Given the description of an element on the screen output the (x, y) to click on. 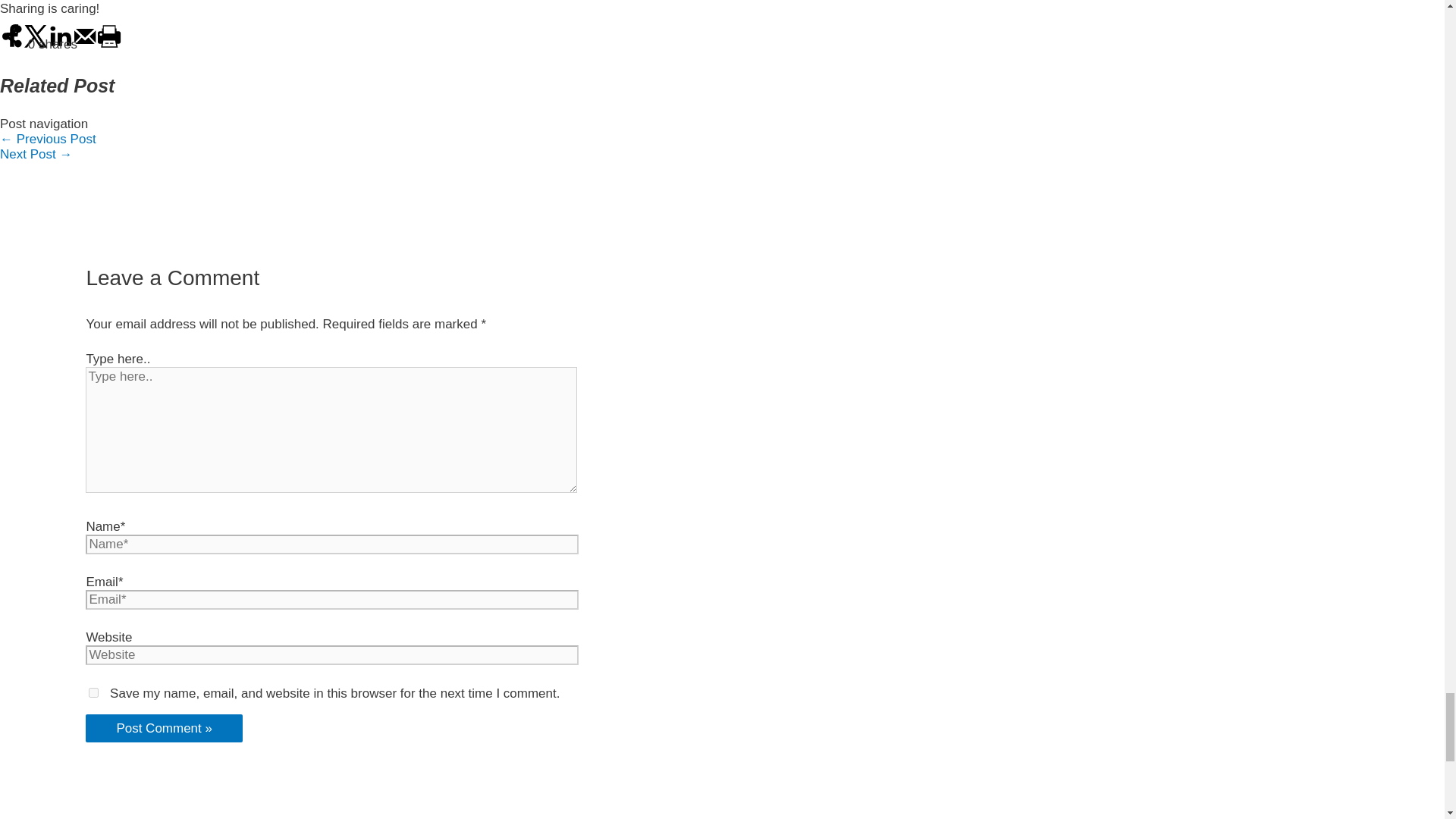
yes (93, 692)
